Given the description of an element on the screen output the (x, y) to click on. 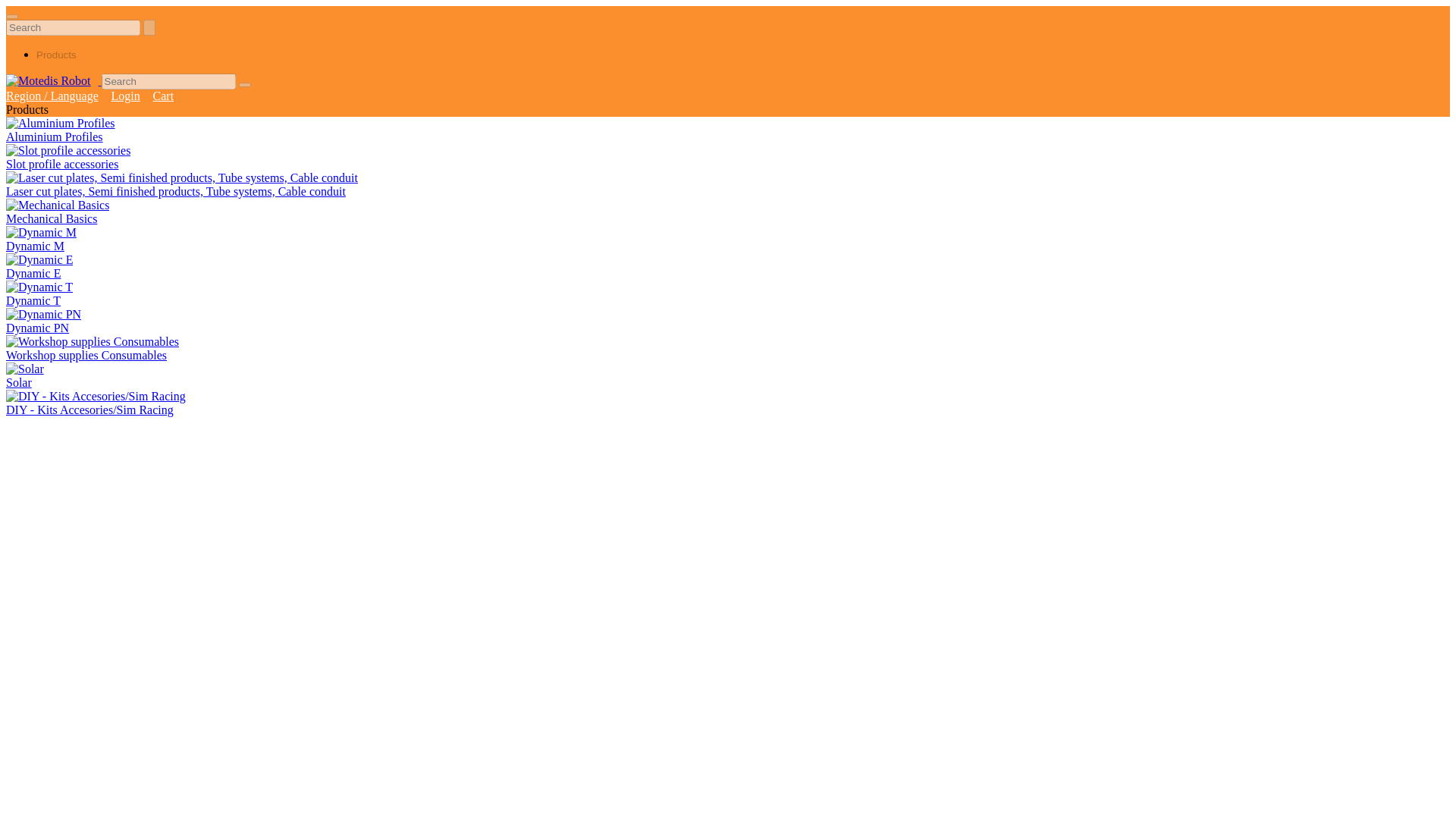
To the index page (53, 80)
Products (56, 54)
Login (125, 95)
Cart (163, 95)
